Given the description of an element on the screen output the (x, y) to click on. 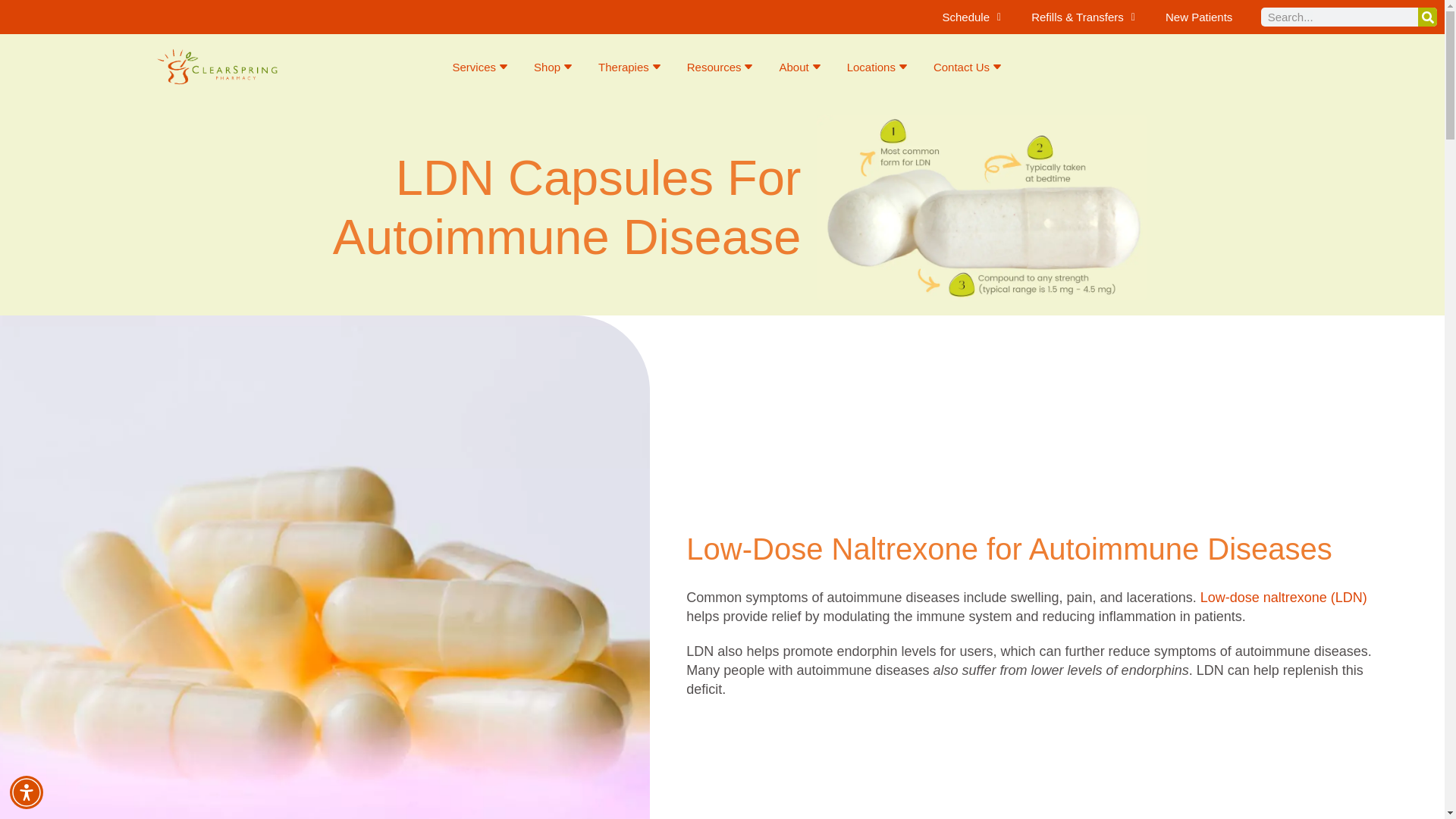
Services (481, 66)
Accessibility Menu (26, 792)
New Patients (1198, 16)
Schedule (971, 16)
Shop (554, 66)
Therapies (630, 66)
